Given the description of an element on the screen output the (x, y) to click on. 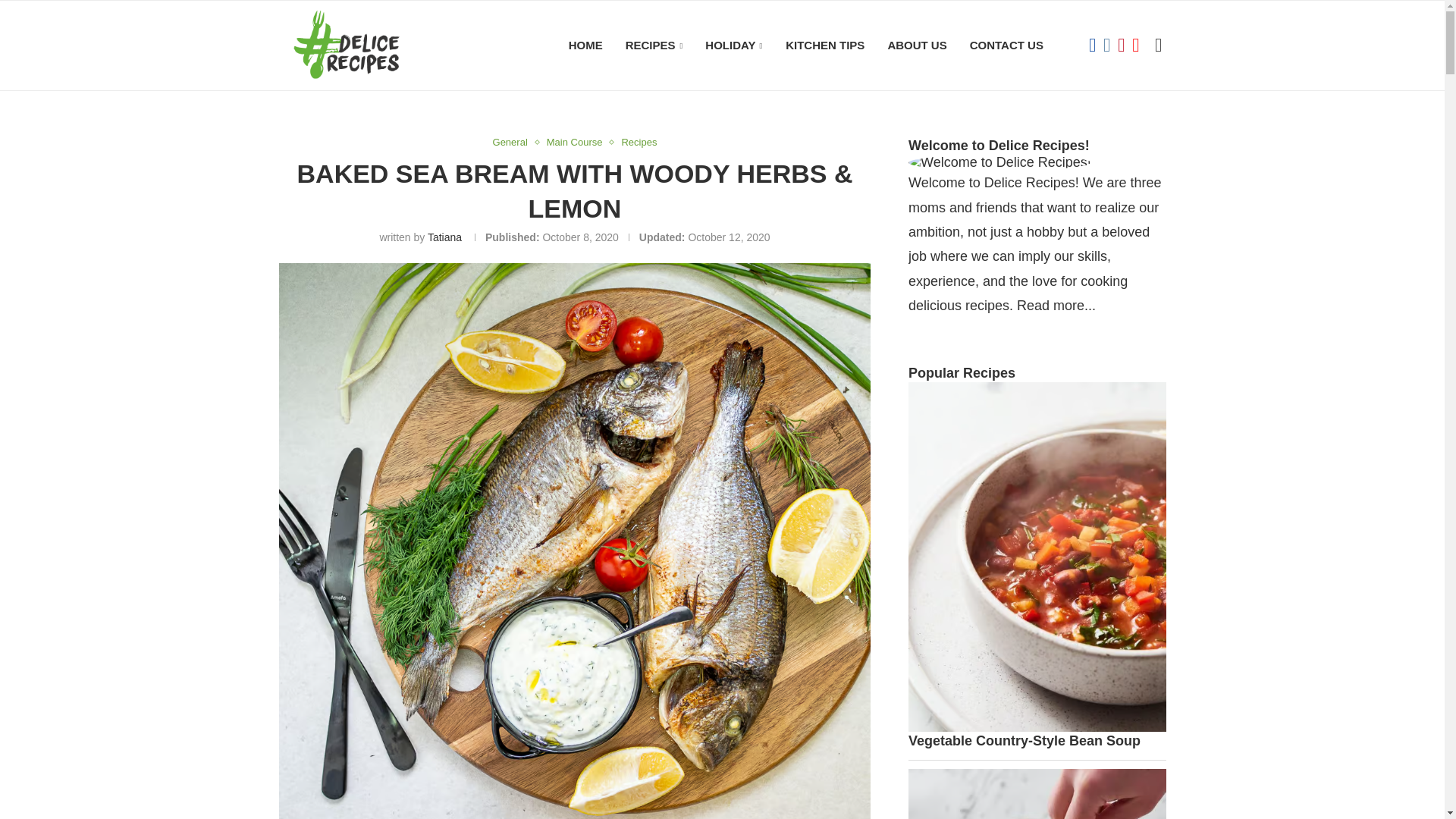
Main Course (578, 142)
Tatiana (443, 236)
Recipes (638, 142)
General (513, 142)
